Given the description of an element on the screen output the (x, y) to click on. 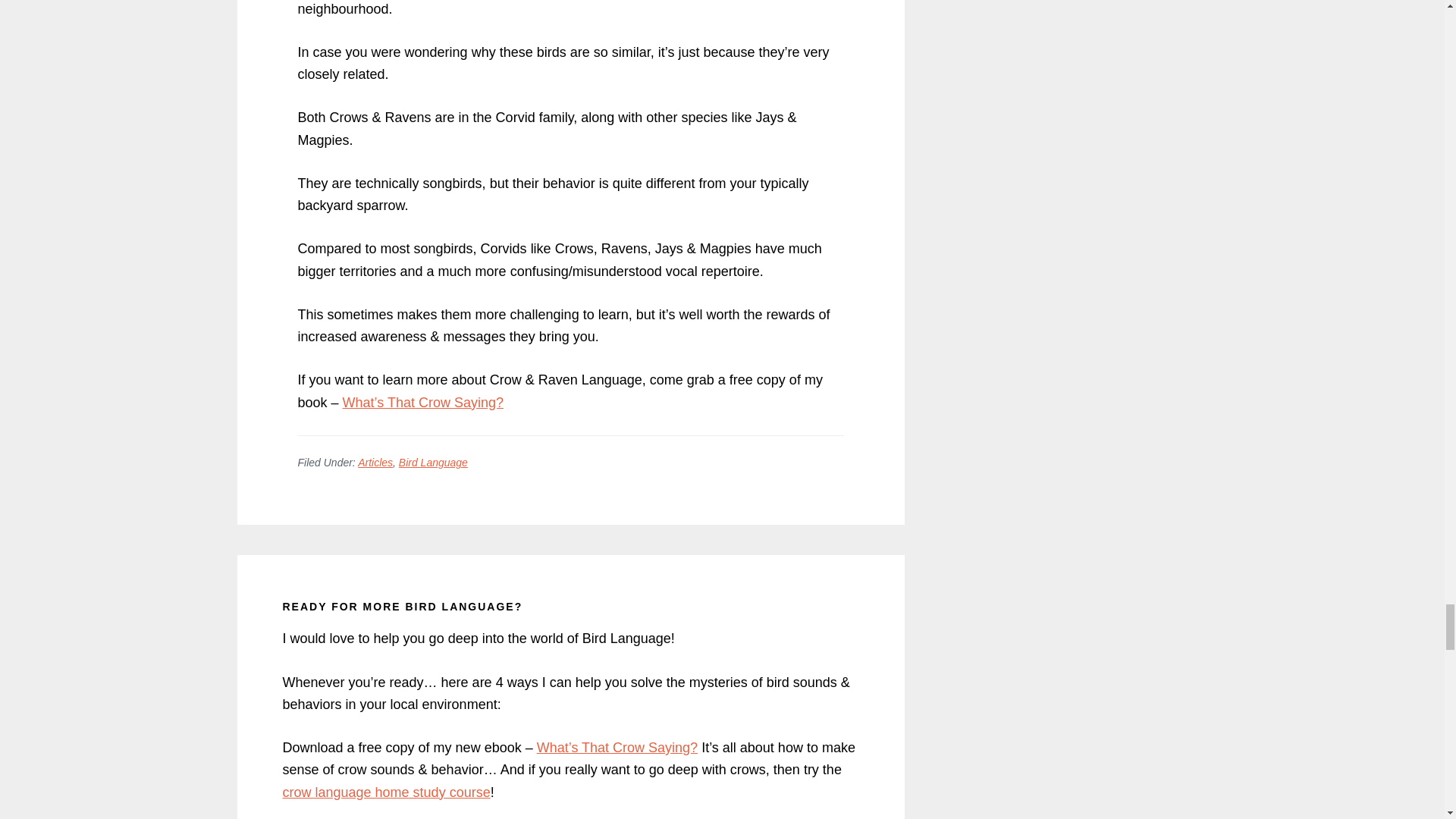
Articles (375, 462)
Bird Language (432, 462)
crow language home study course (385, 792)
